Given the description of an element on the screen output the (x, y) to click on. 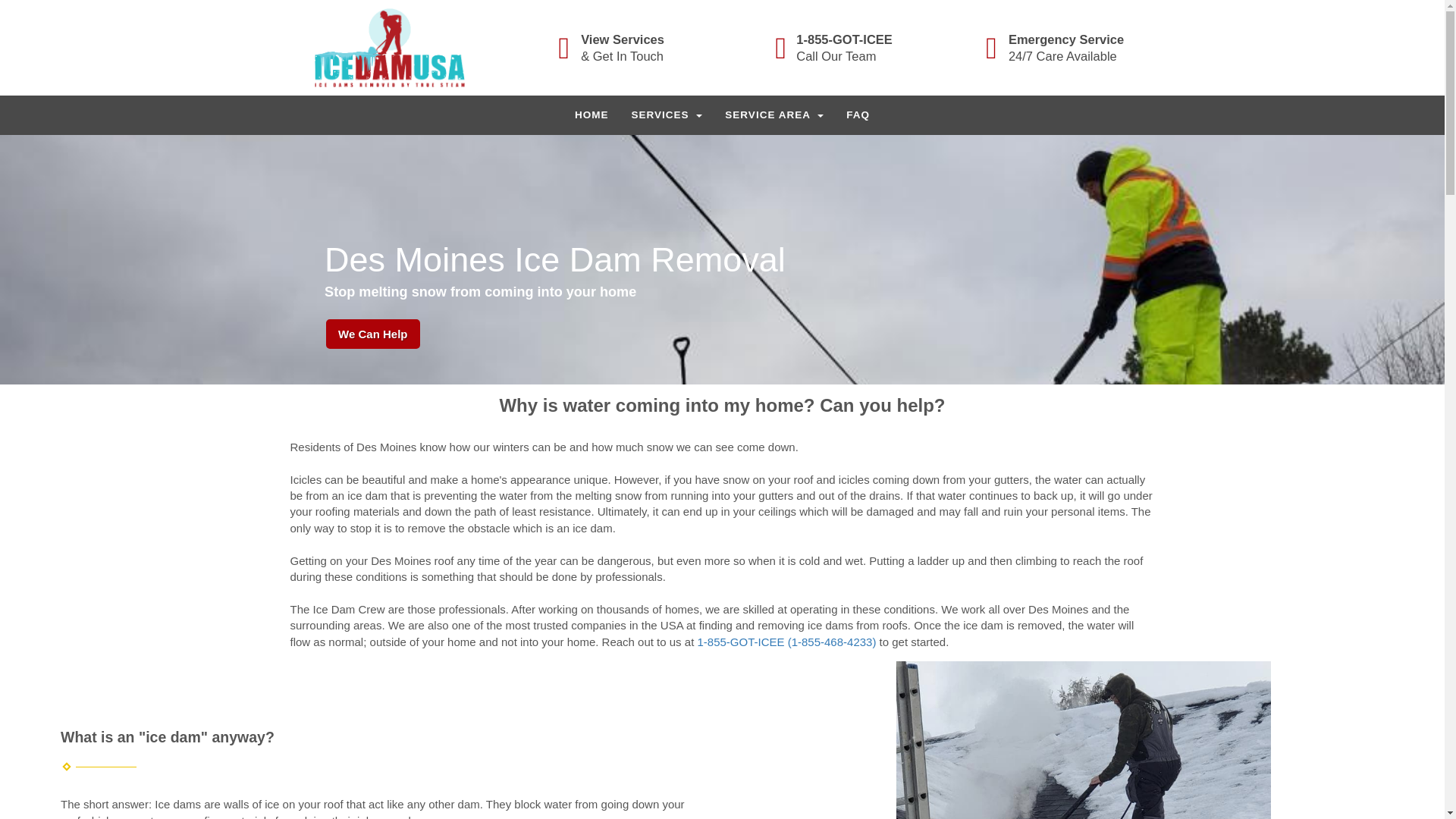
SERVICE AREA (773, 115)
SERVICES (667, 115)
HOME (591, 115)
1-855-GOT-ICEE (844, 38)
